Given the description of an element on the screen output the (x, y) to click on. 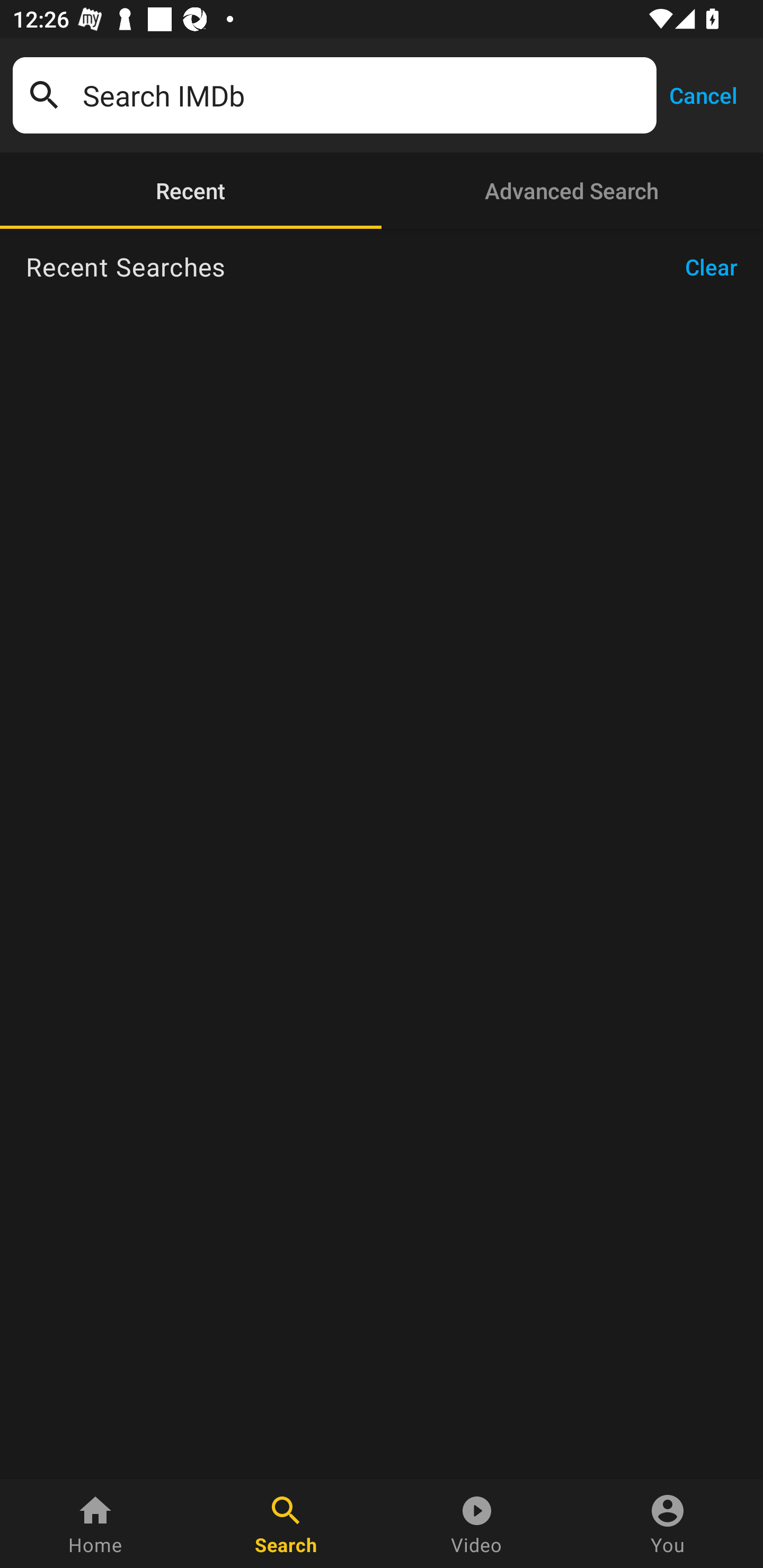
Cancel (703, 94)
Search IMDb (363, 95)
Advanced Search (572, 190)
Clear (717, 266)
Home (95, 1523)
Video (476, 1523)
You (667, 1523)
